Given the description of an element on the screen output the (x, y) to click on. 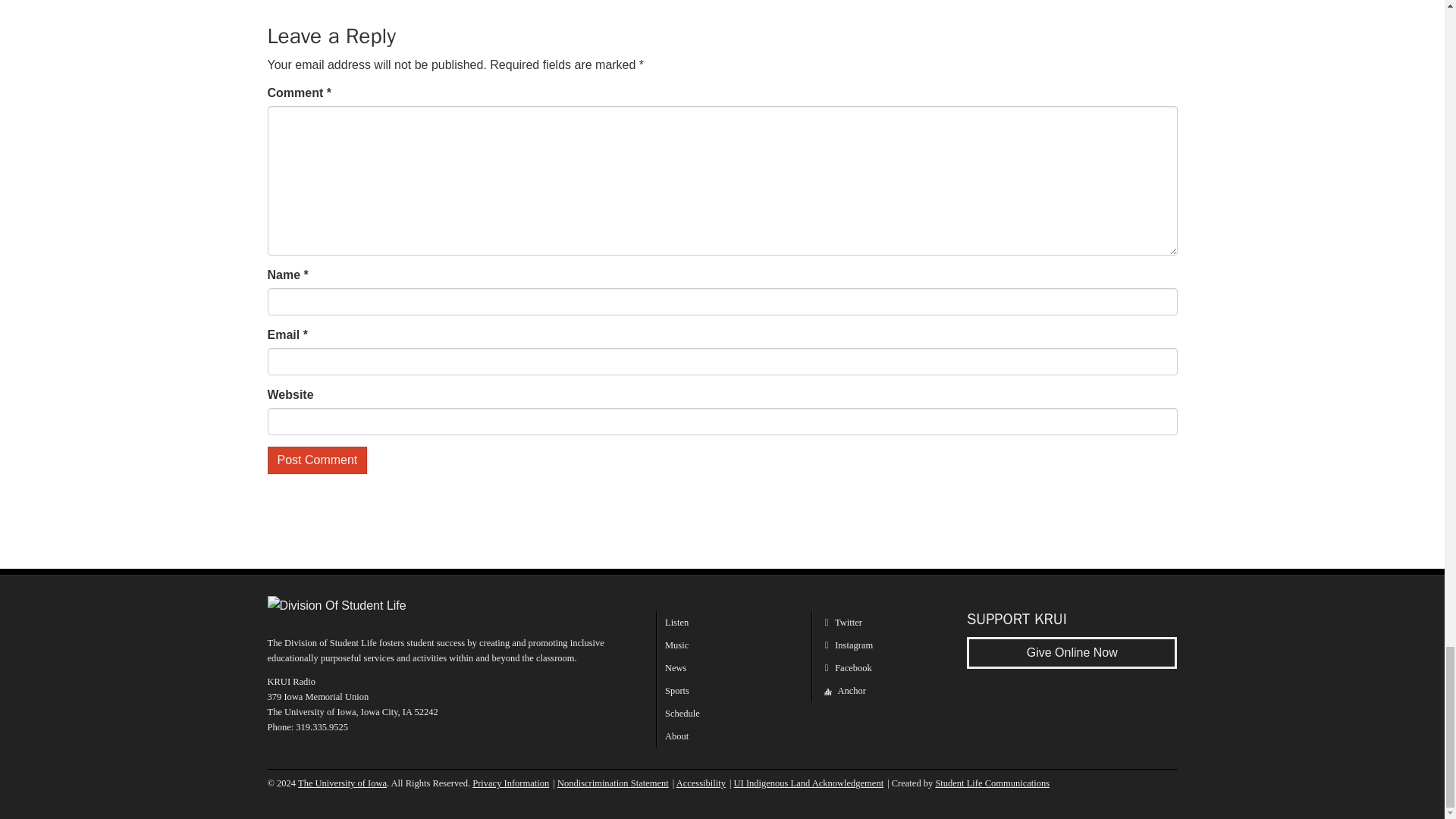
Post Comment (316, 460)
